Given the description of an element on the screen output the (x, y) to click on. 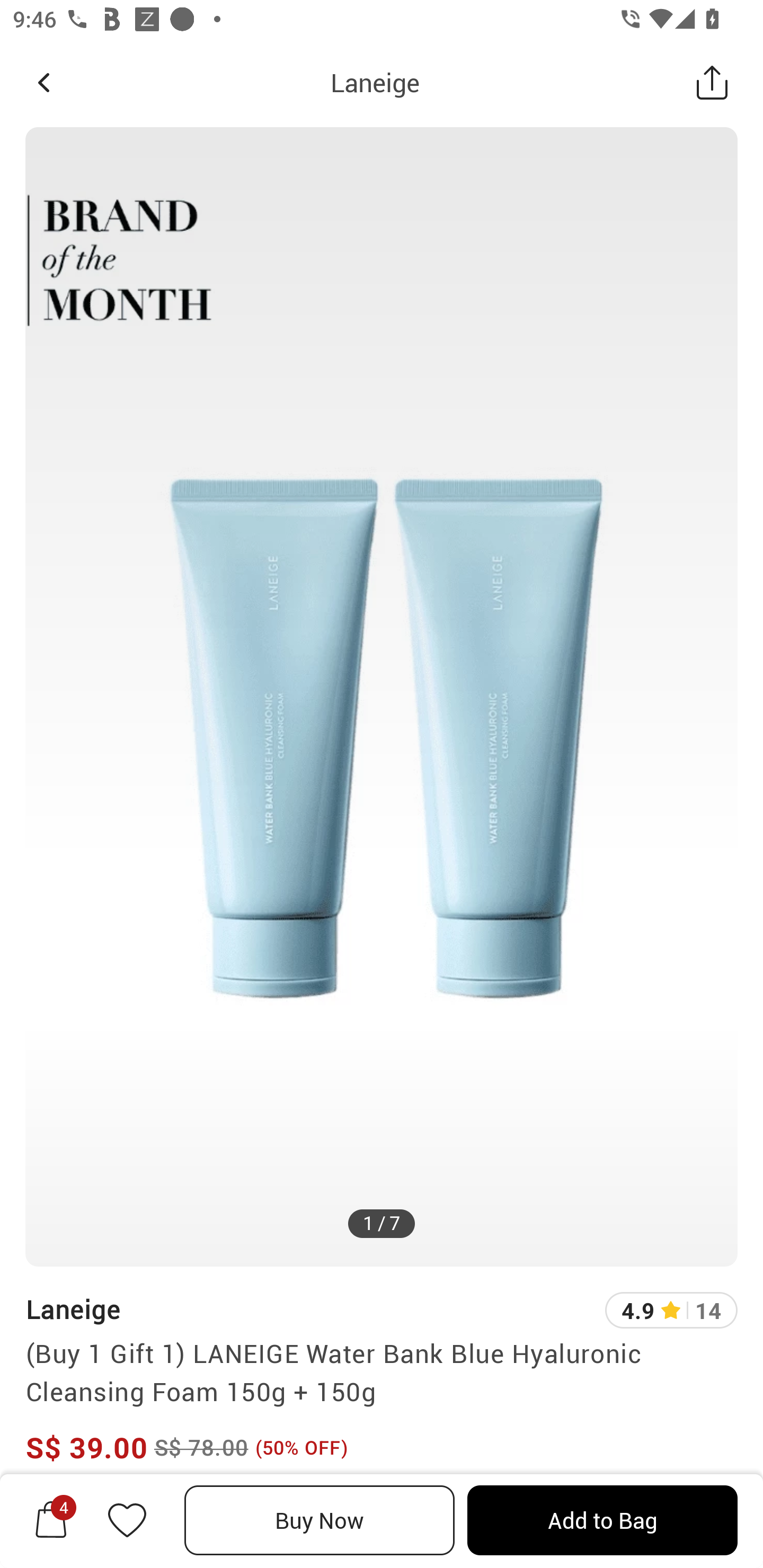
Laneige (375, 82)
Share this Product (711, 82)
Laneige (72, 1309)
4.9 14 (671, 1310)
Buy Now (319, 1519)
Add to Bag (601, 1519)
4 (50, 1520)
